Given the description of an element on the screen output the (x, y) to click on. 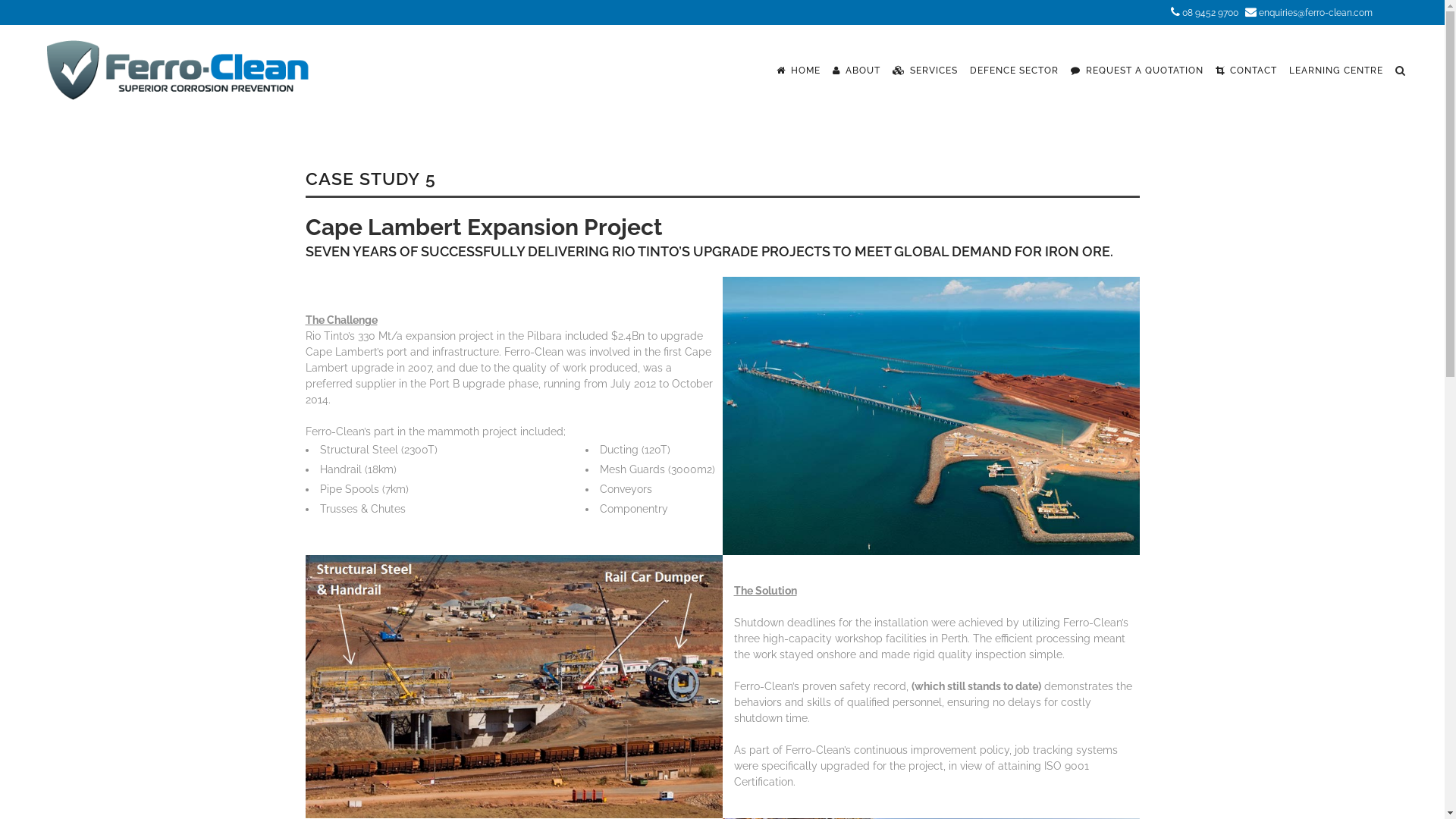
CONTACT Element type: text (1246, 70)
SERVICES Element type: text (924, 70)
DEFENCE SECTOR Element type: text (1013, 70)
enquiries@ferro-clean.com Element type: text (1315, 12)
HOME Element type: text (798, 70)
LEARNING CENTRE Element type: text (1336, 70)
REQUEST A QUOTATION Element type: text (1136, 70)
ABOUT Element type: text (856, 70)
